Given the description of an element on the screen output the (x, y) to click on. 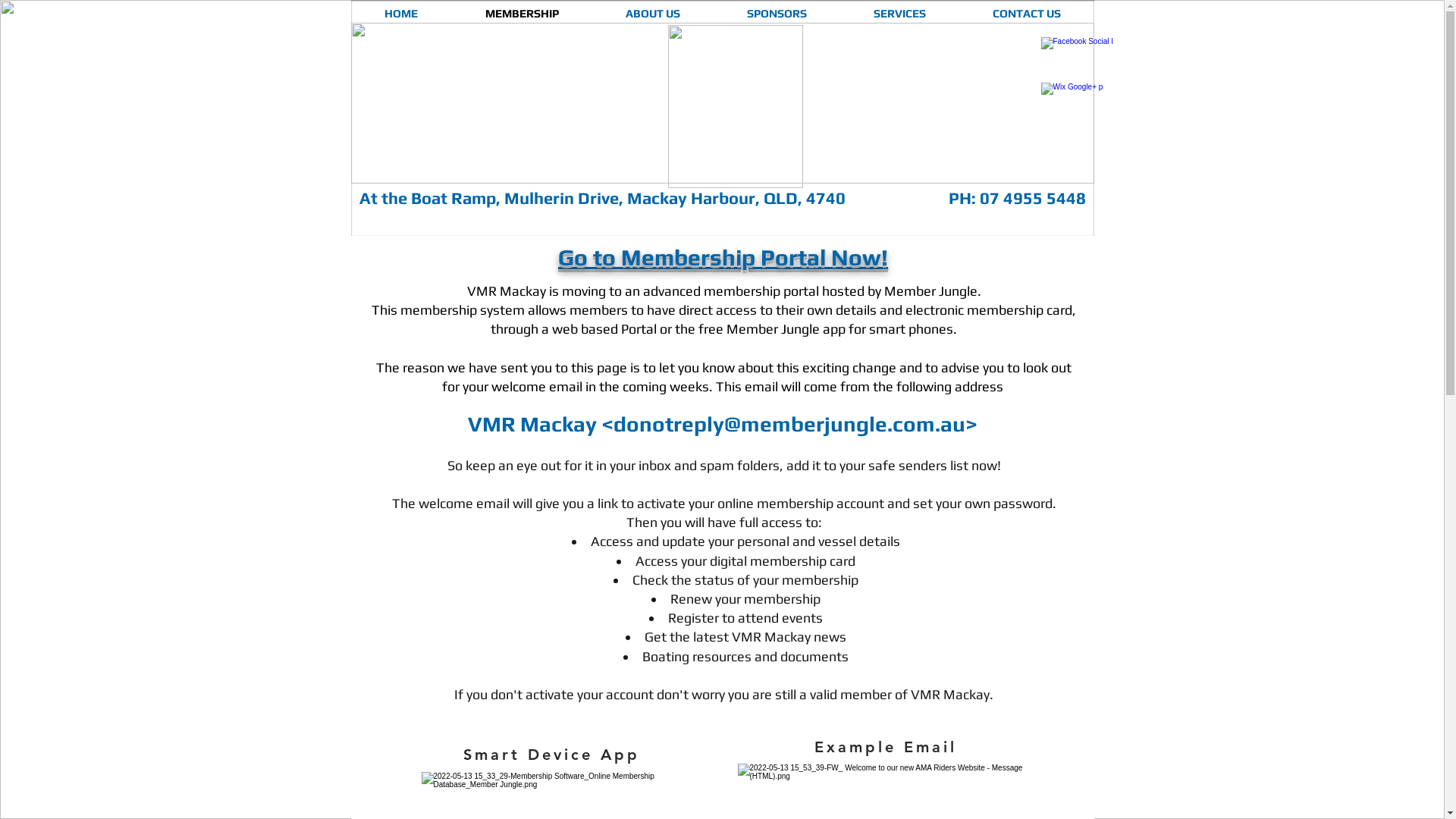
ABOUT US Element type: text (651, 13)
CONTACT US Element type: text (1025, 13)
HOME Element type: text (400, 13)
Go to Membership Portal Now! Element type: text (723, 257)
logo.jpg Element type: hover (734, 106)
donotreply@memberjungle.com.au Element type: text (788, 423)
SPONSORS Element type: text (775, 13)
SERVICES Element type: text (899, 13)
MEMBERSHIP Element type: text (521, 13)
